Given the description of an element on the screen output the (x, y) to click on. 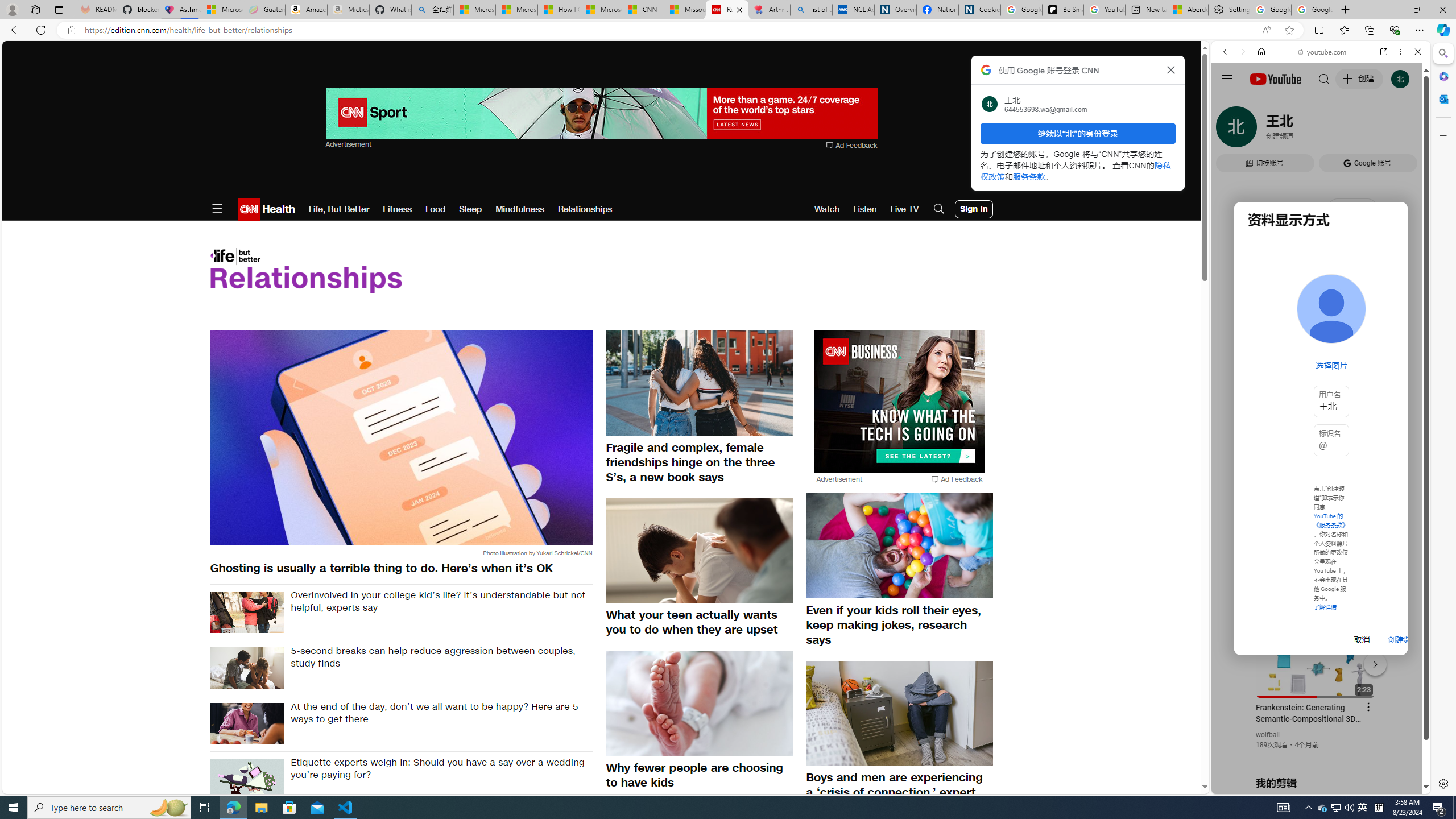
Life, But Better (338, 209)
WEB   (1230, 130)
Relationships (584, 209)
GettyImages-1145156502.jpg (246, 668)
Life, But Better - Relationships (305, 270)
